Given the description of an element on the screen output the (x, y) to click on. 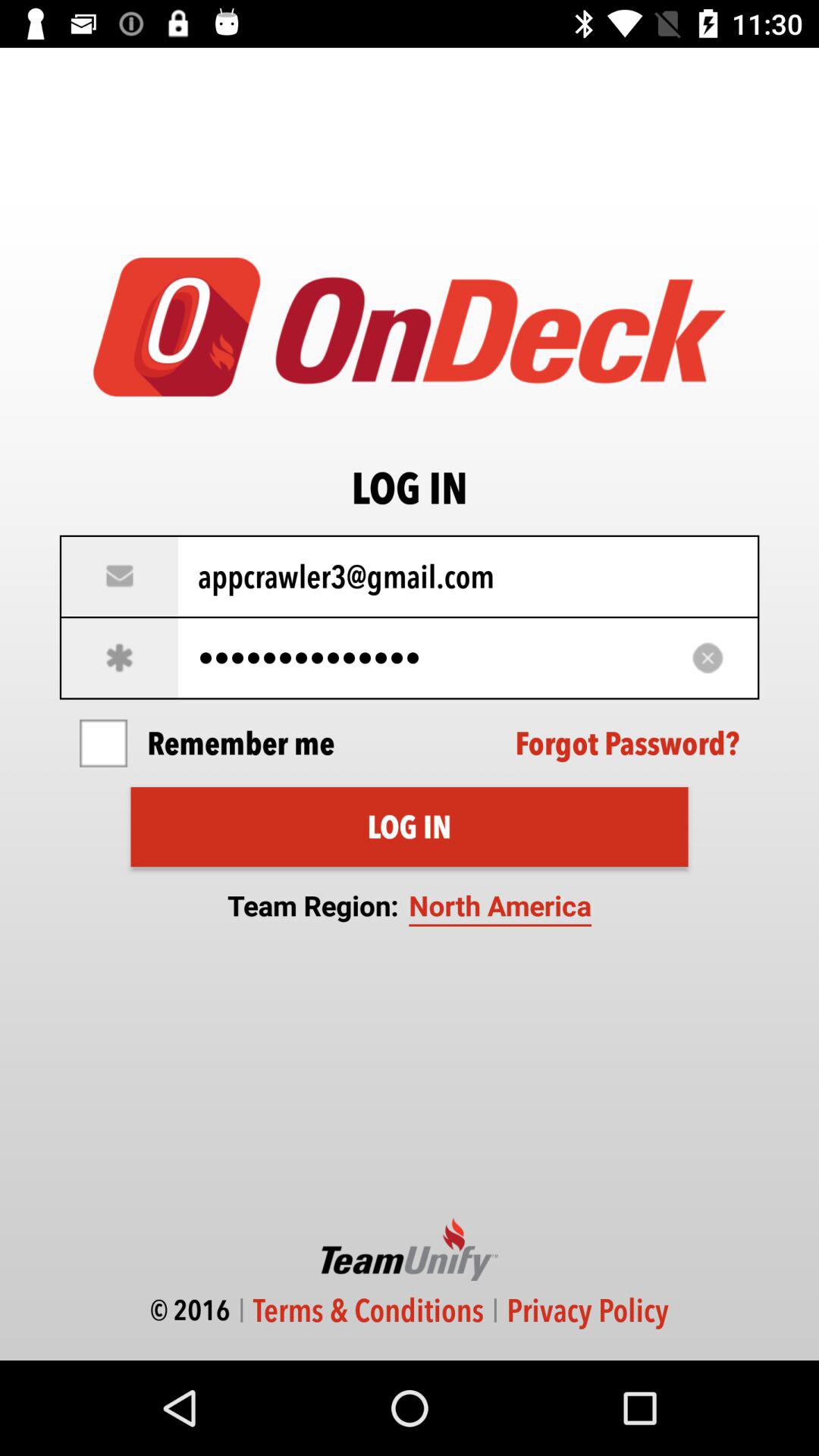
choose privacy policy (587, 1310)
